Given the description of an element on the screen output the (x, y) to click on. 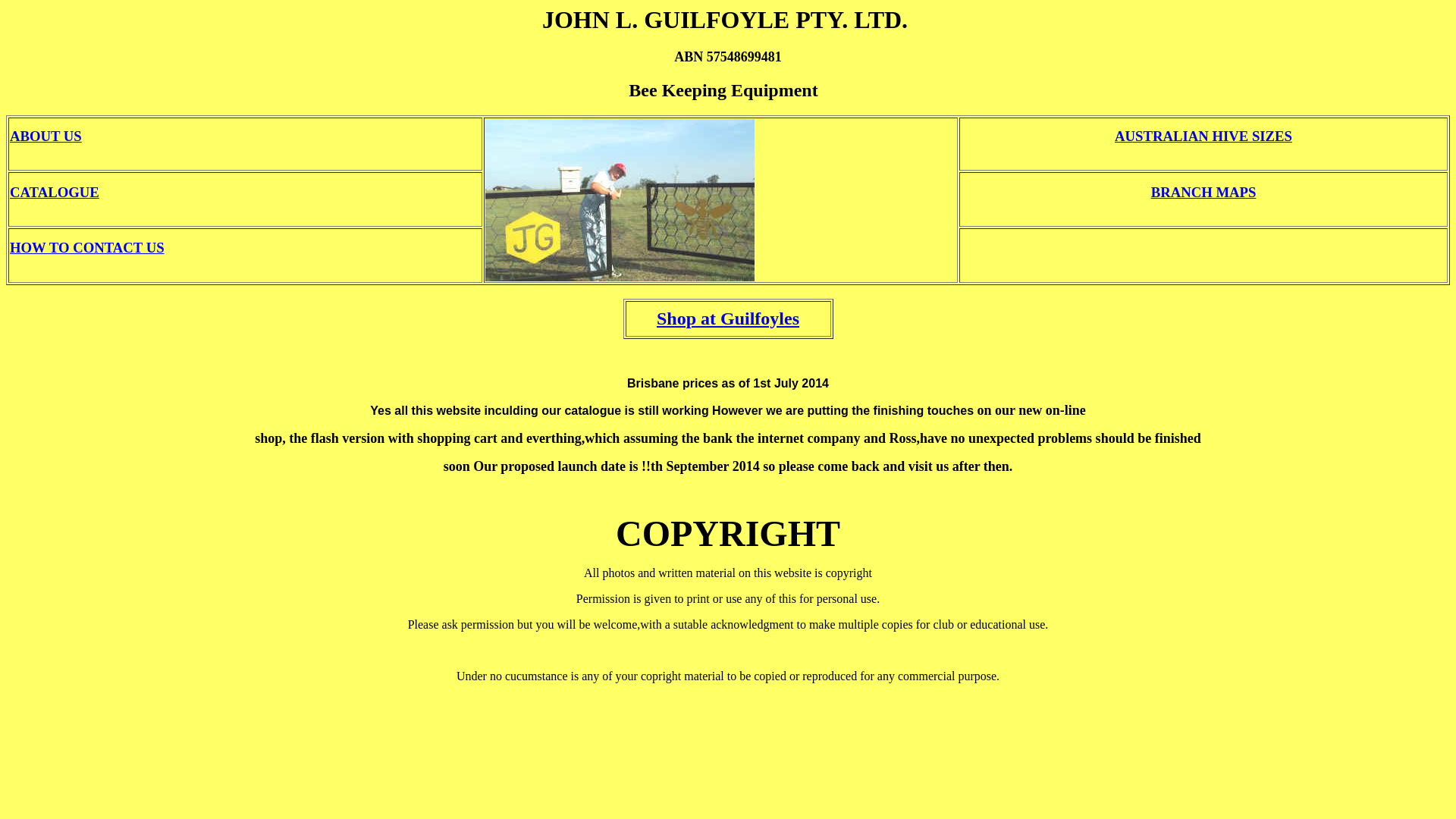
Shop at Guilfoyles Element type: text (727, 318)
BRANCH MAPS Element type: text (1203, 192)
AUSTRALIAN HIVE SIZES Element type: text (1203, 136)
CATALOGUE Element type: text (54, 192)
HOW TO CONTACT US Element type: text (86, 247)
ABOUT US Element type: text (45, 136)
